Given the description of an element on the screen output the (x, y) to click on. 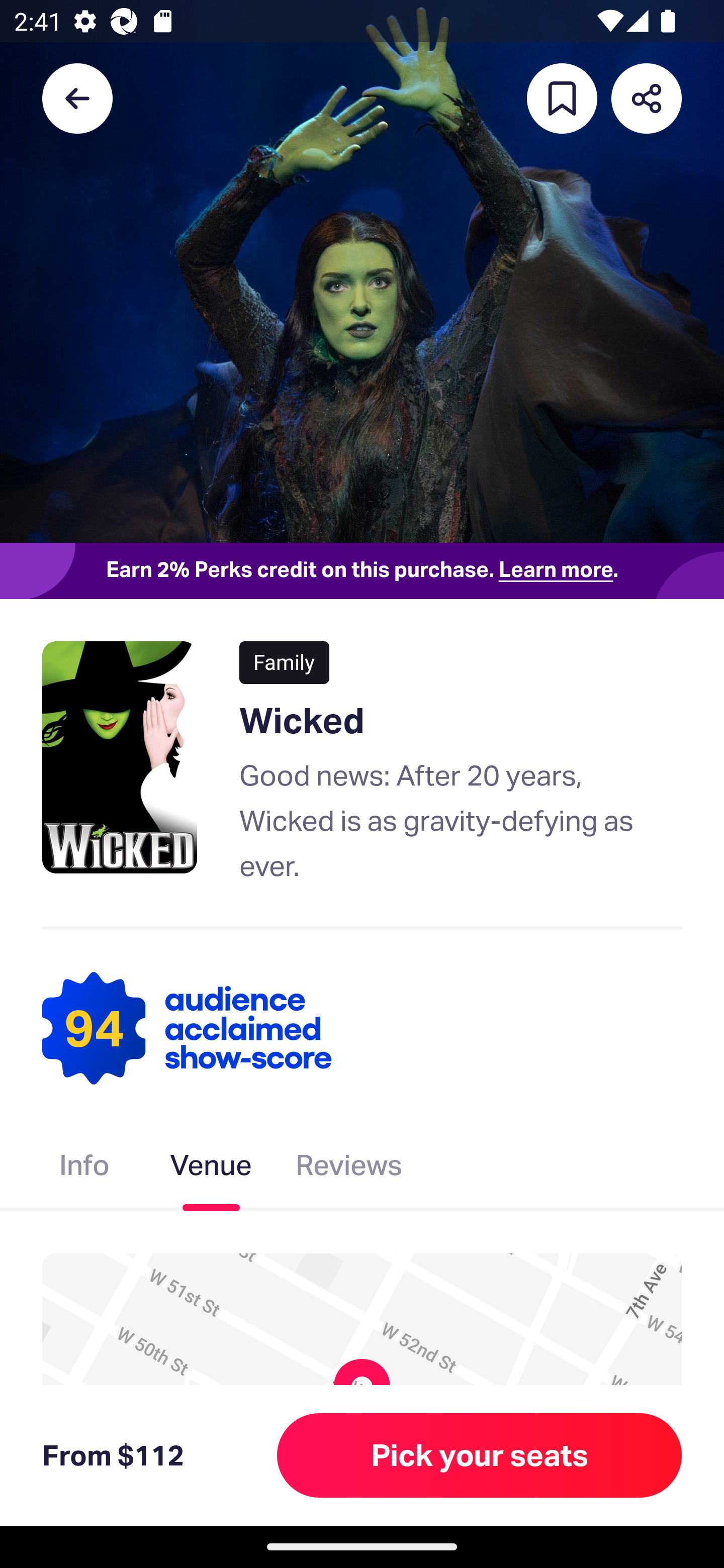
Earn 2% Perks credit on this purchase. Learn more. (362, 570)
Info (83, 1168)
Reviews (348, 1168)
Pick your seats (479, 1454)
